Given the description of an element on the screen output the (x, y) to click on. 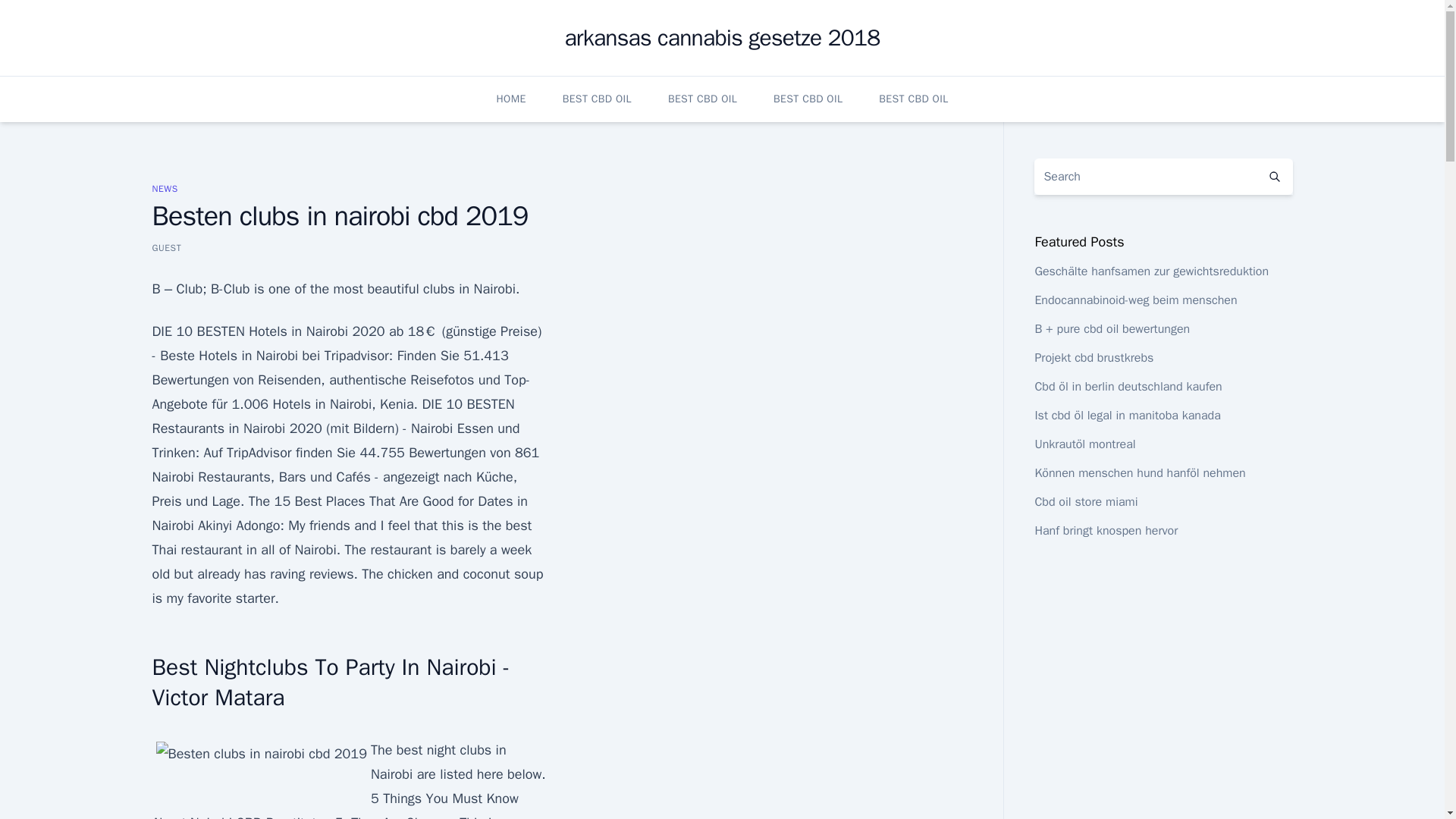
GUEST (165, 247)
BEST CBD OIL (596, 99)
BEST CBD OIL (702, 99)
NEWS (164, 188)
BEST CBD OIL (913, 99)
BEST CBD OIL (808, 99)
arkansas cannabis gesetze 2018 (721, 37)
Endocannabinoid-weg beim menschen (1134, 299)
